Given the description of an element on the screen output the (x, y) to click on. 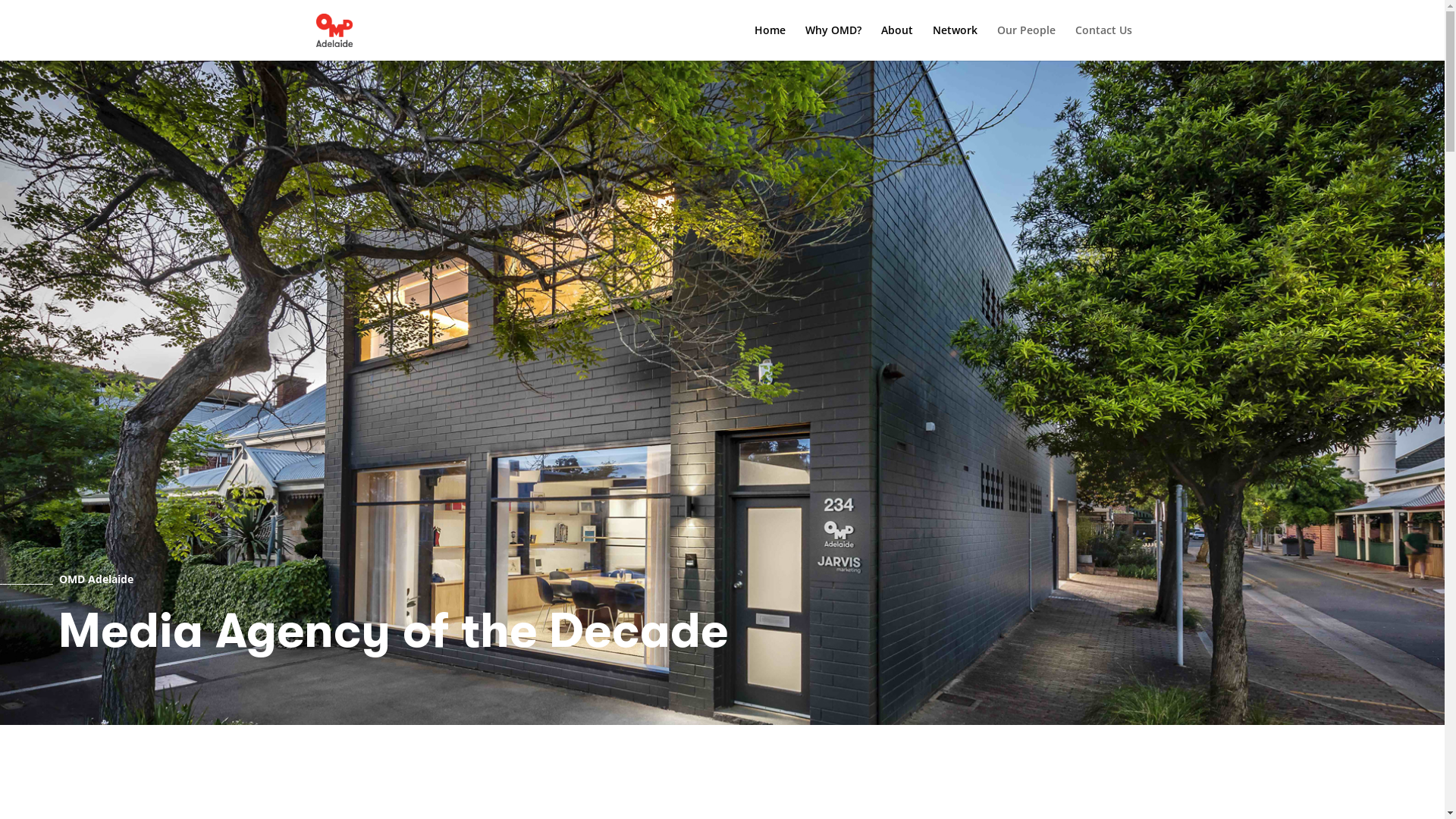
Network Element type: text (954, 42)
Home Element type: text (768, 42)
About Element type: text (897, 42)
Why OMD? Element type: text (833, 42)
Our People Element type: text (1025, 42)
Contact Us Element type: text (1103, 42)
